Given the description of an element on the screen output the (x, y) to click on. 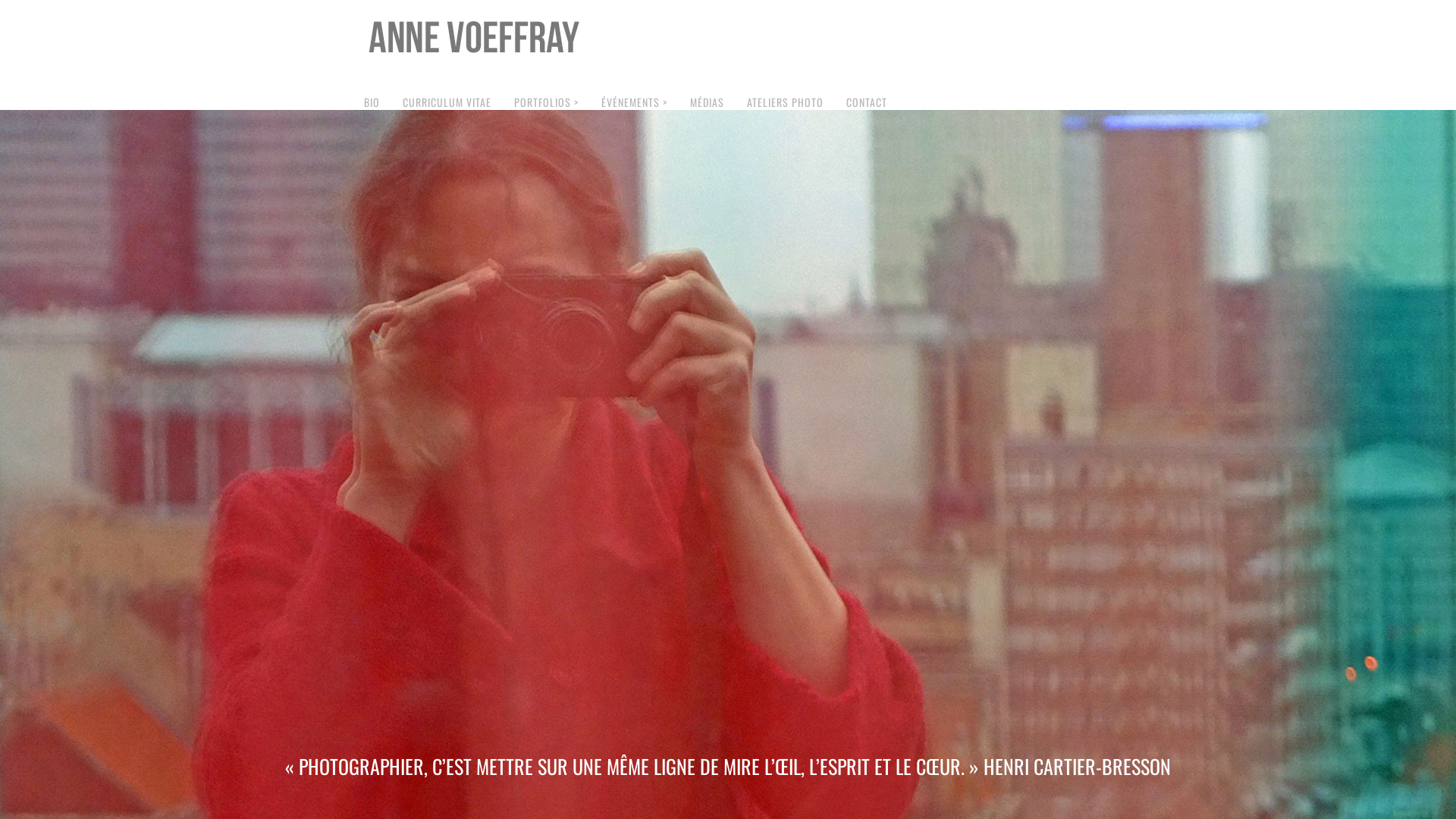
BIO Element type: text (371, 101)
CONTACT Element type: text (866, 101)
ATELIERS PHOTO Element type: text (784, 101)
CURRICULUM VITAE Element type: text (446, 101)
PORTFOLIOS > Element type: text (546, 101)
